Given the description of an element on the screen output the (x, y) to click on. 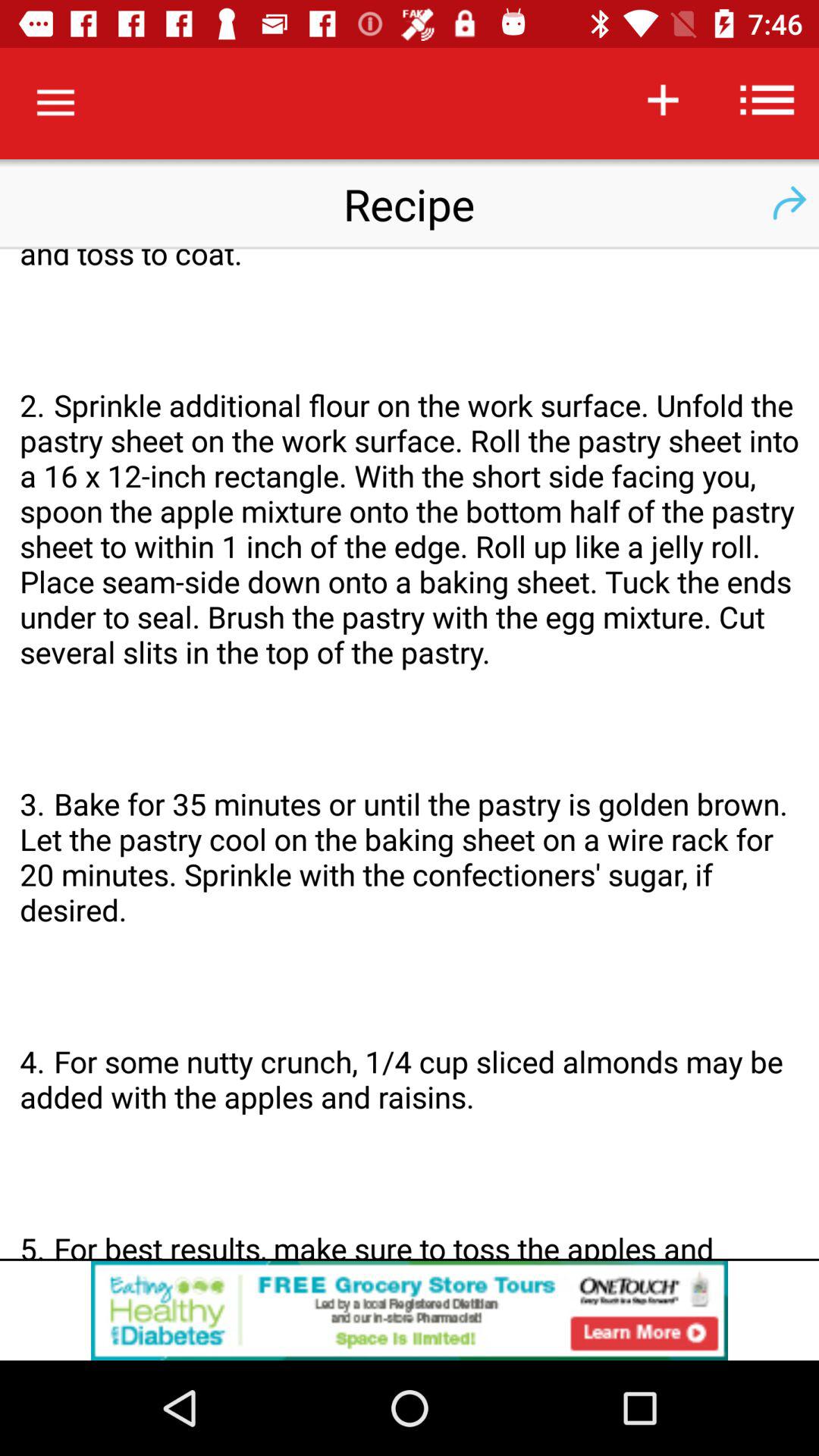
advertisement (409, 1310)
